Given the description of an element on the screen output the (x, y) to click on. 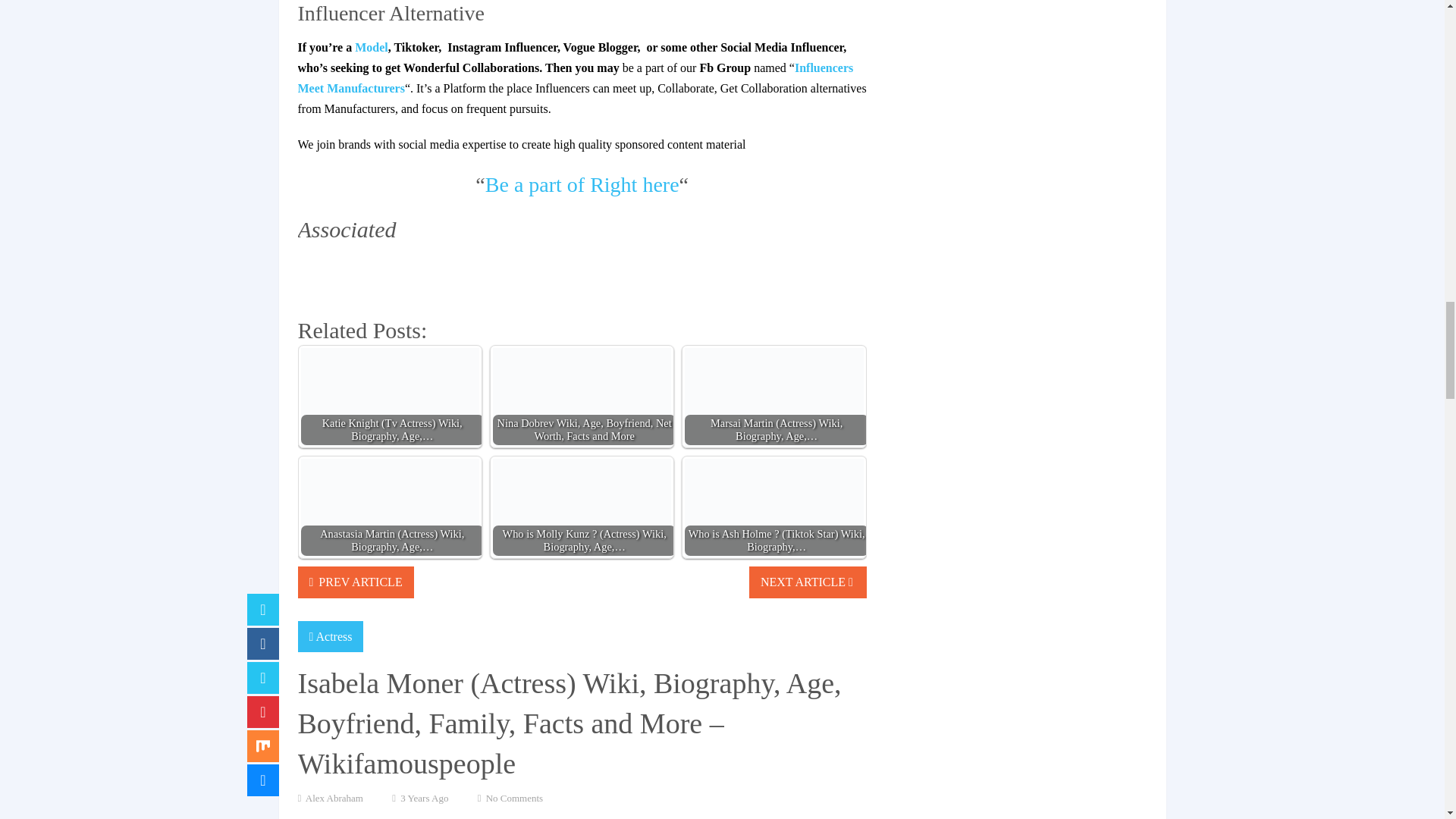
Influencers Meet Manufacturers (575, 78)
Model (371, 47)
Nina Dobrev Wiki, Age, Boyfriend, Net Worth, Facts and More (582, 403)
Be a part of Right here (581, 184)
Antje Utgaard Wiki (371, 47)
